Given the description of an element on the screen output the (x, y) to click on. 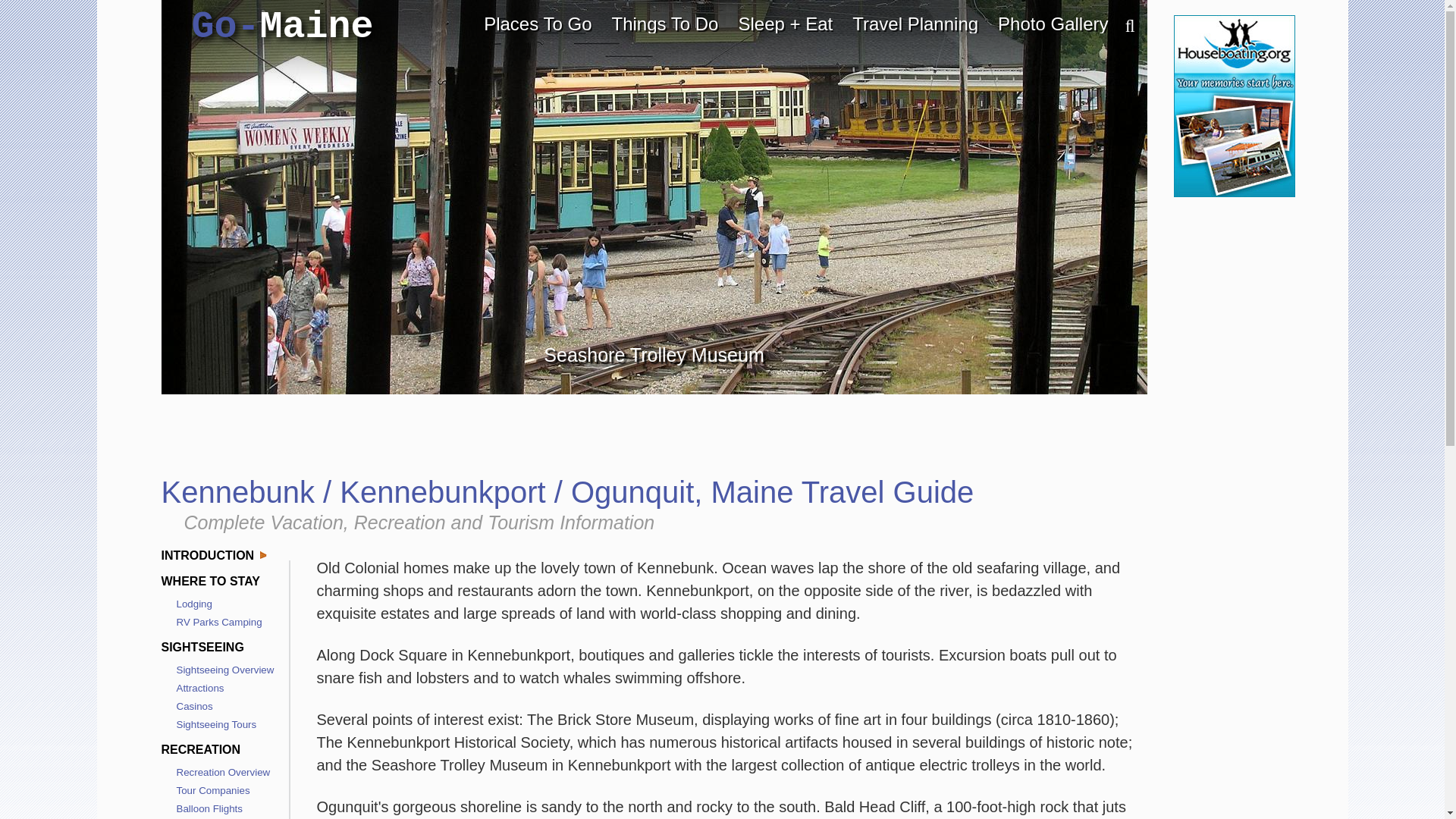
Things To Do (665, 24)
Search Here (1122, 26)
Search Here (1122, 26)
Places To Go (537, 24)
go-maine.com (281, 27)
Go-Maine (281, 27)
